Given the description of an element on the screen output the (x, y) to click on. 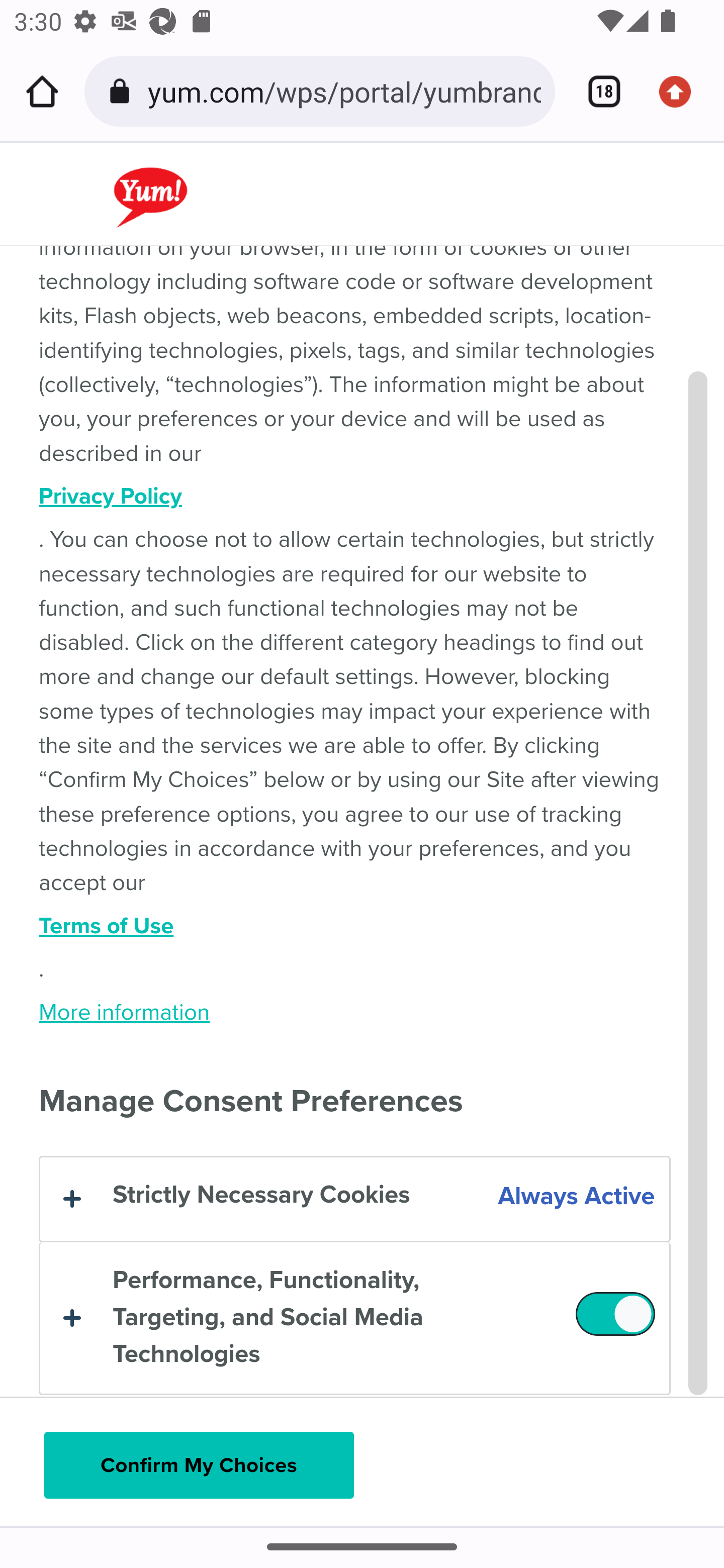
Home (42, 91)
Connection is secure (122, 91)
Switch or close tabs (597, 91)
Update available. More options (681, 91)
yum.com/wps/portal/yumbrands/Yumbrands (343, 90)
javascript:void(0); (202, 183)
Privacy Policy (354, 496)
Terms of Use (354, 925)
Strictly Necessary Cookies (354, 1199)
Confirm My Choices (198, 1465)
